Given the description of an element on the screen output the (x, y) to click on. 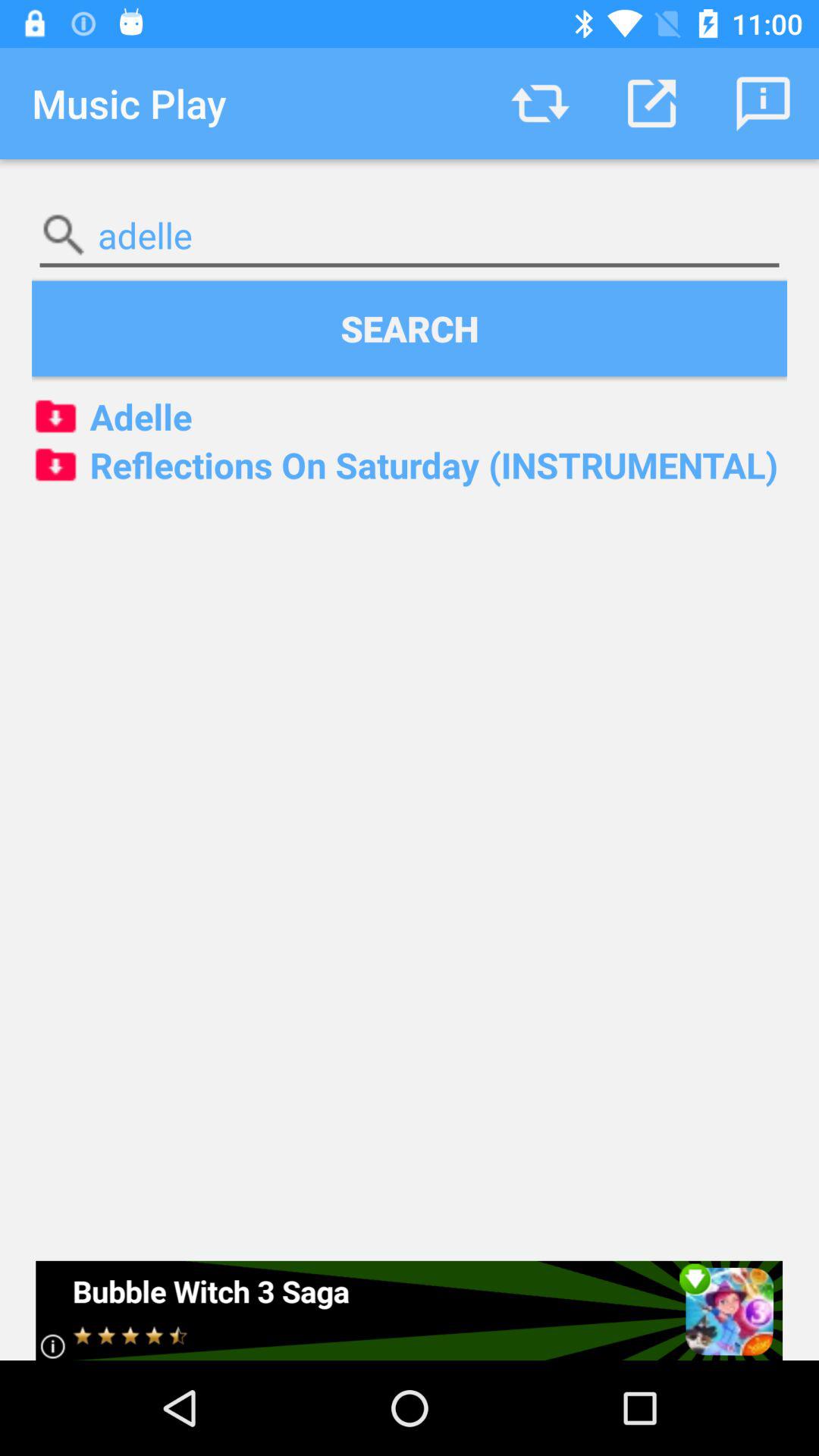
press item above the adelle item (540, 103)
